Given the description of an element on the screen output the (x, y) to click on. 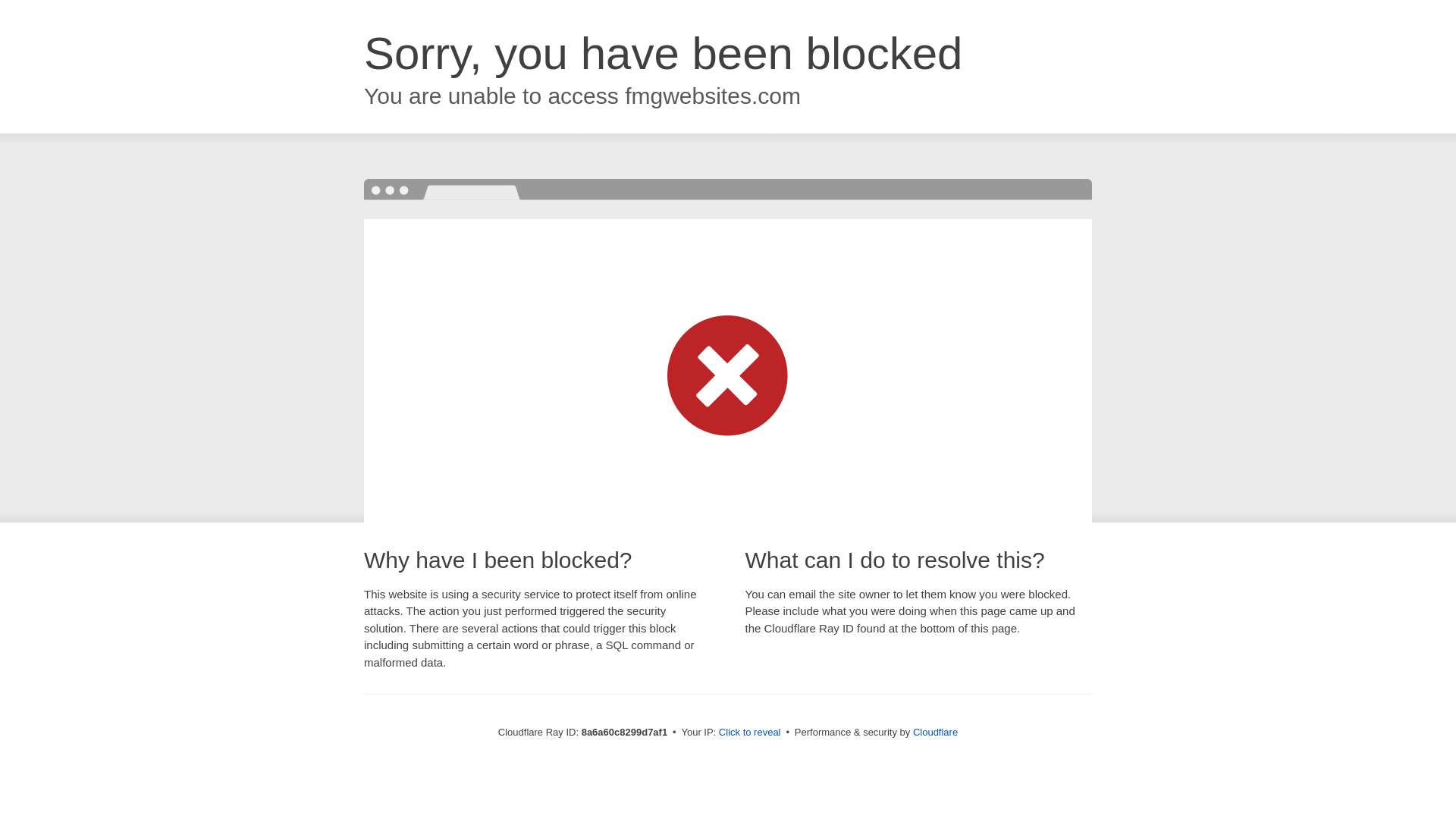
Cloudflare (935, 731)
Click to reveal (749, 732)
